Given the description of an element on the screen output the (x, y) to click on. 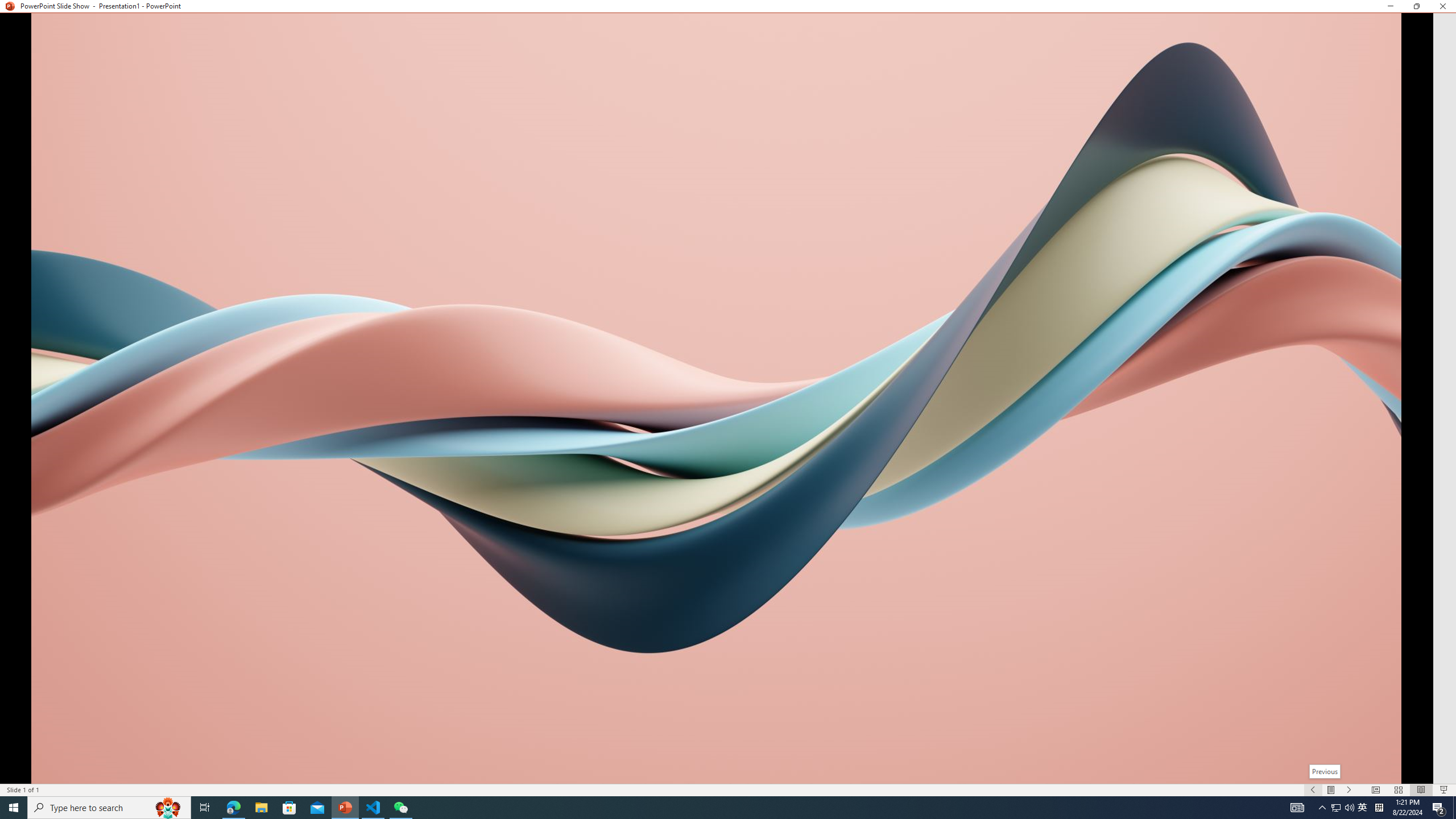
Menu On (1331, 790)
Slide Show Previous On (1313, 790)
Slide Show Next On (1349, 790)
Previous (1324, 771)
